Given the description of an element on the screen output the (x, y) to click on. 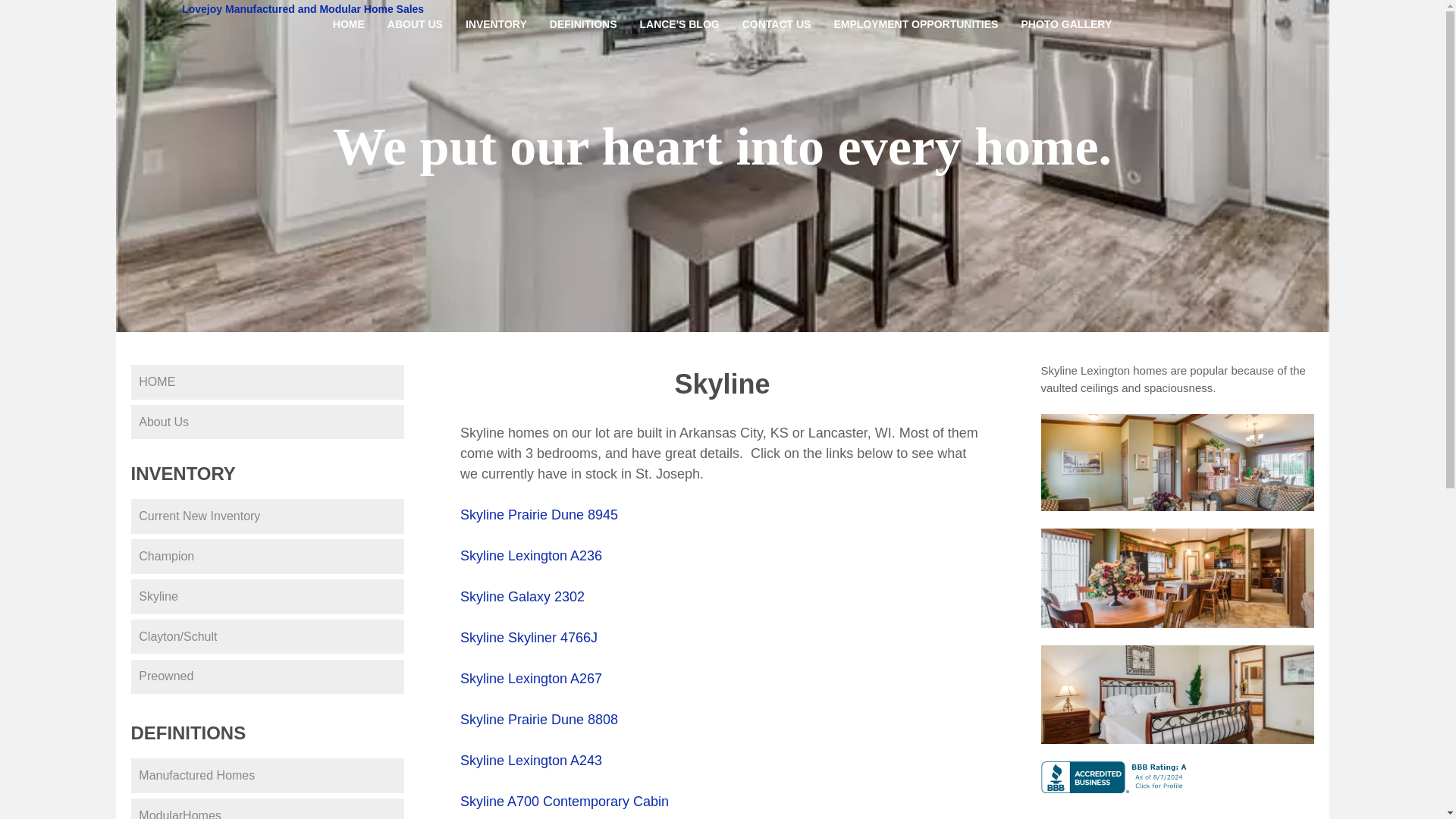
Skyline (267, 596)
PHOTO GALLERY (1065, 23)
Preowned (267, 677)
CONTACT US (776, 23)
Skyline Lexington A267 (531, 678)
Skyline Lexington Dining (1177, 578)
ABOUT US (414, 23)
Skyline Prairie Dune 8808 (538, 719)
About Us (267, 421)
Skyline Lexington A236 (531, 555)
Current New Inventory (267, 515)
Manufactured Homes (267, 775)
HOME (267, 381)
Skyline Lexington A243 (531, 760)
EMPLOYMENT OPPORTUNITIES (915, 23)
